Given the description of an element on the screen output the (x, y) to click on. 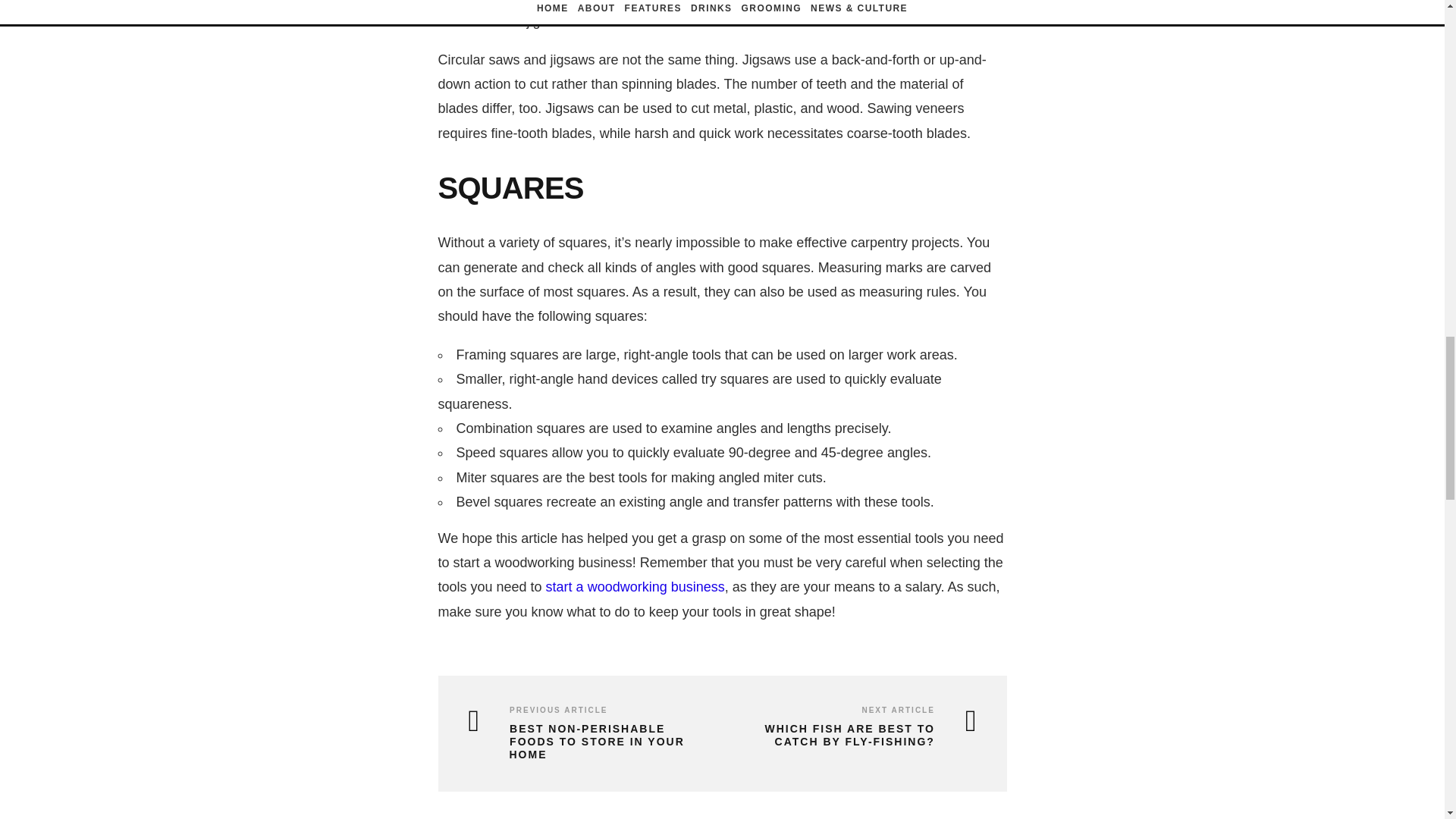
PREVIOUS ARTICLE (558, 709)
NEXT ARTICLE (897, 709)
BEST NON-PERISHABLE FOODS TO STORE IN YOUR HOME (584, 741)
start a woodworking business (635, 586)
WHICH FISH ARE BEST TO CATCH BY FLY-FISHING? (852, 735)
